Given the description of an element on the screen output the (x, y) to click on. 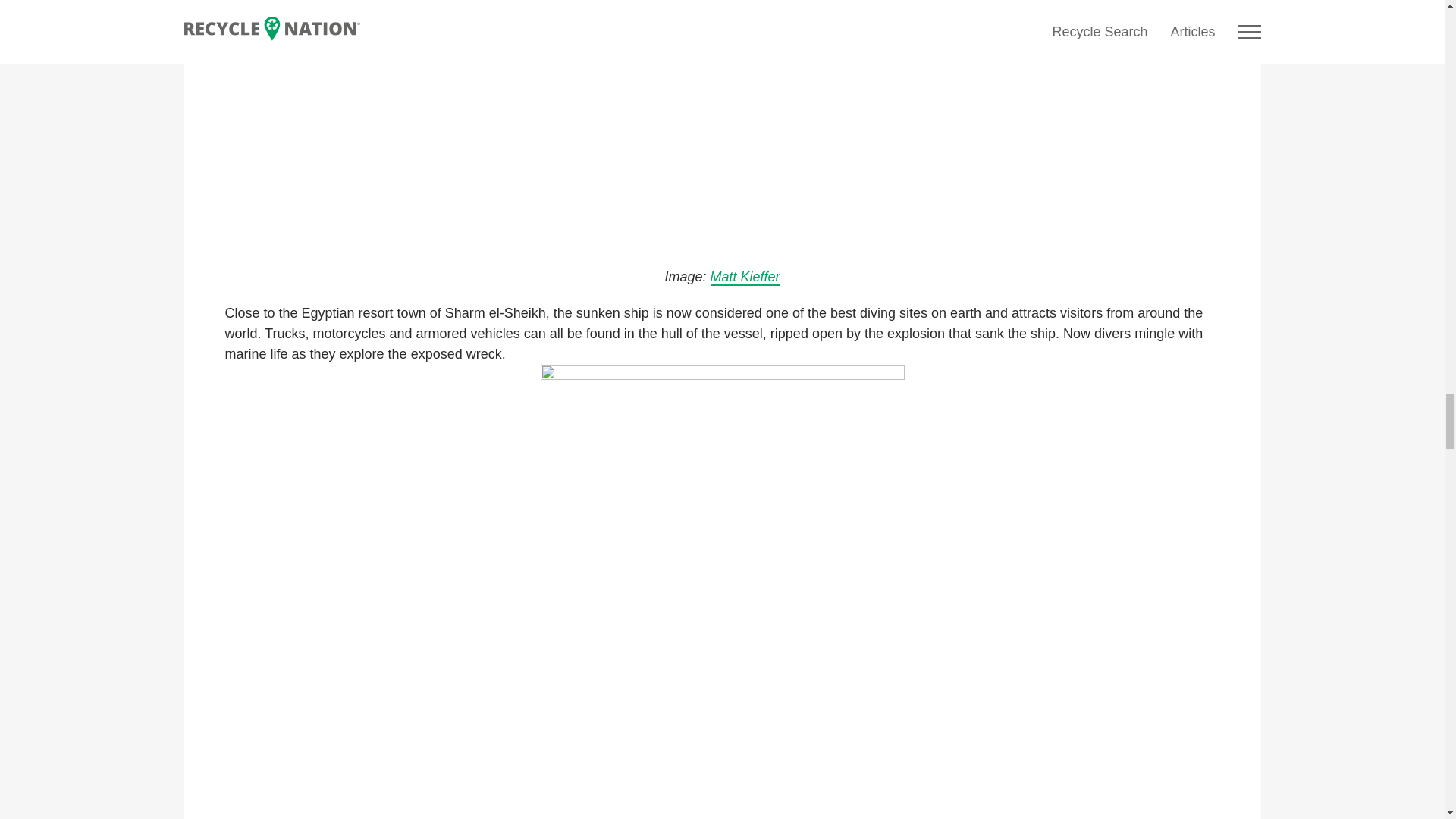
sunken-recycled-vehicle-reef-12 (722, 125)
Matt Kieffer (744, 277)
